Given the description of an element on the screen output the (x, y) to click on. 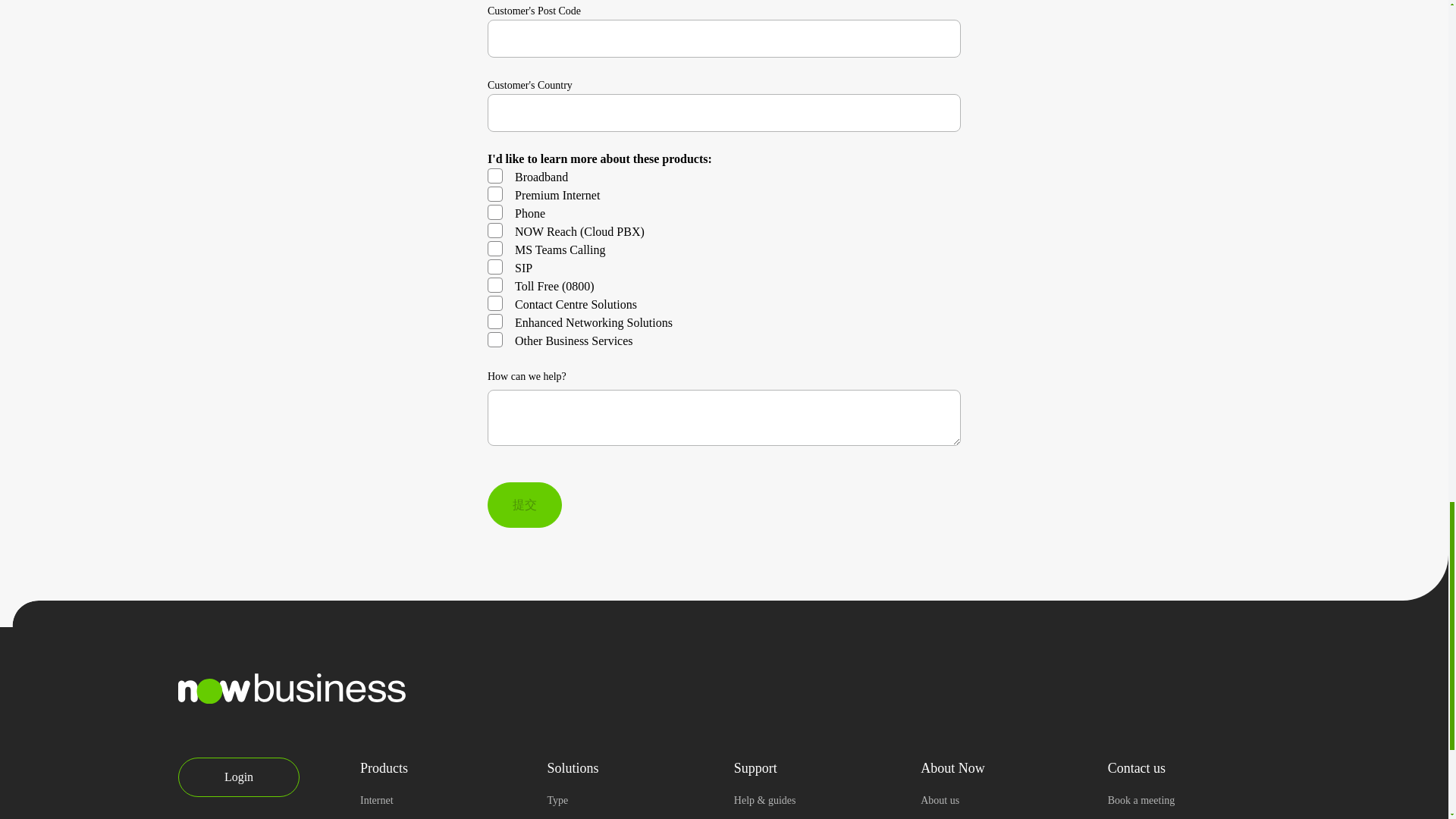
1 (494, 284)
1 (494, 193)
1 (494, 248)
1 (494, 175)
1 (494, 266)
1 (494, 230)
1 (494, 212)
